Given the description of an element on the screen output the (x, y) to click on. 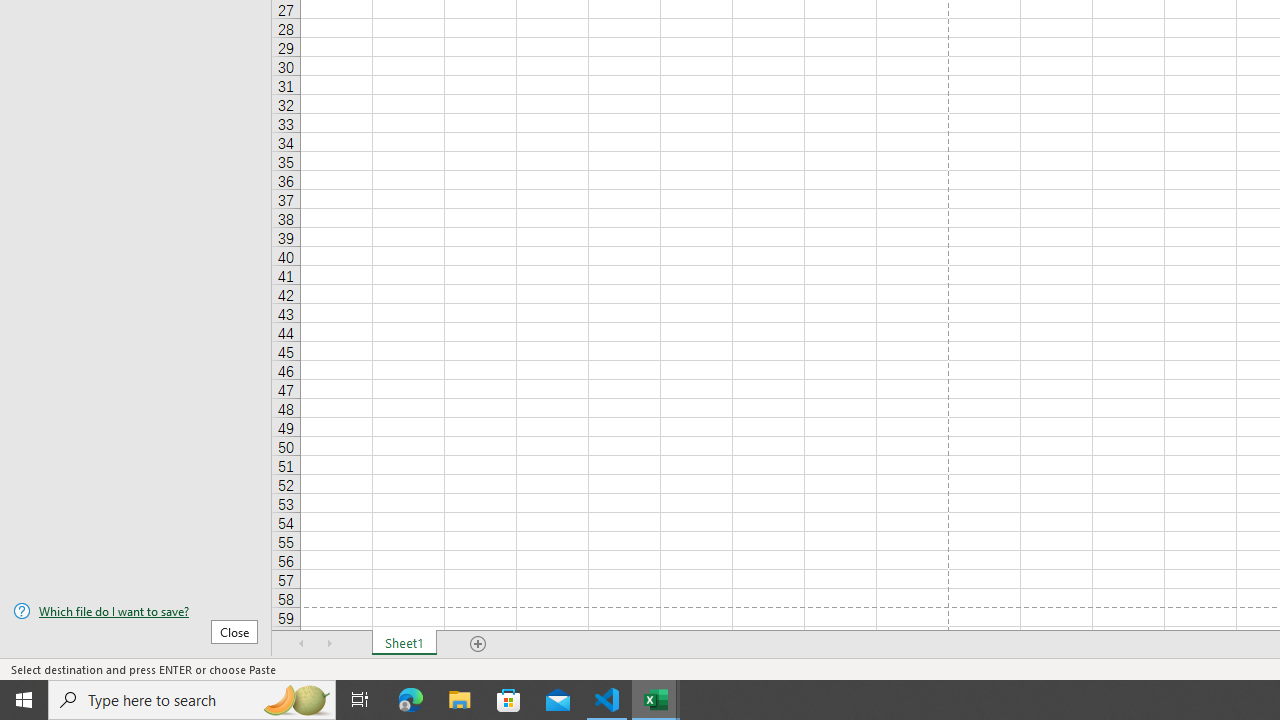
Microsoft Store (509, 699)
Task View (359, 699)
Scroll Left (302, 644)
Visual Studio Code - 1 running window (607, 699)
Microsoft Edge (411, 699)
Scroll Right (330, 644)
Start (24, 699)
Add Sheet (478, 644)
Which file do I want to save? (136, 611)
Close (234, 631)
Sheet1 (404, 644)
Type here to search (191, 699)
Search highlights icon opens search home window (295, 699)
Excel - 2 running windows (656, 699)
